Given the description of an element on the screen output the (x, y) to click on. 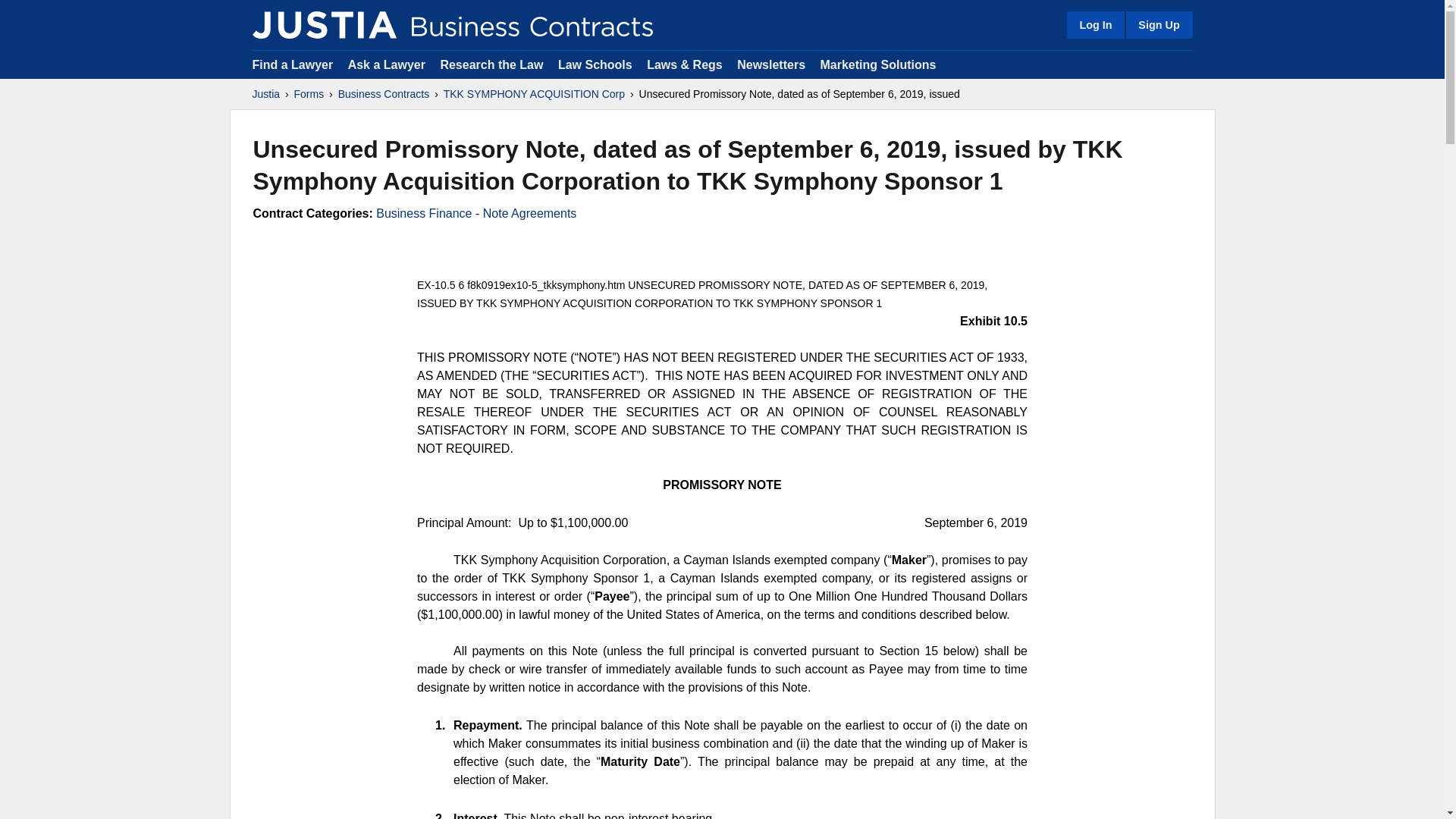
Log In (1094, 24)
Forms (309, 93)
Marketing Solutions (877, 64)
Ask a Lawyer (388, 64)
Business Contracts (383, 93)
Business Finance (423, 213)
Justia (323, 24)
Note Agreements (529, 213)
Justia (265, 93)
Law Schools (594, 64)
Newsletters (770, 64)
Sign Up (1158, 24)
Find a Lawyer (292, 64)
Research the Law (491, 64)
TKK SYMPHONY ACQUISITION Corp (534, 93)
